Given the description of an element on the screen output the (x, y) to click on. 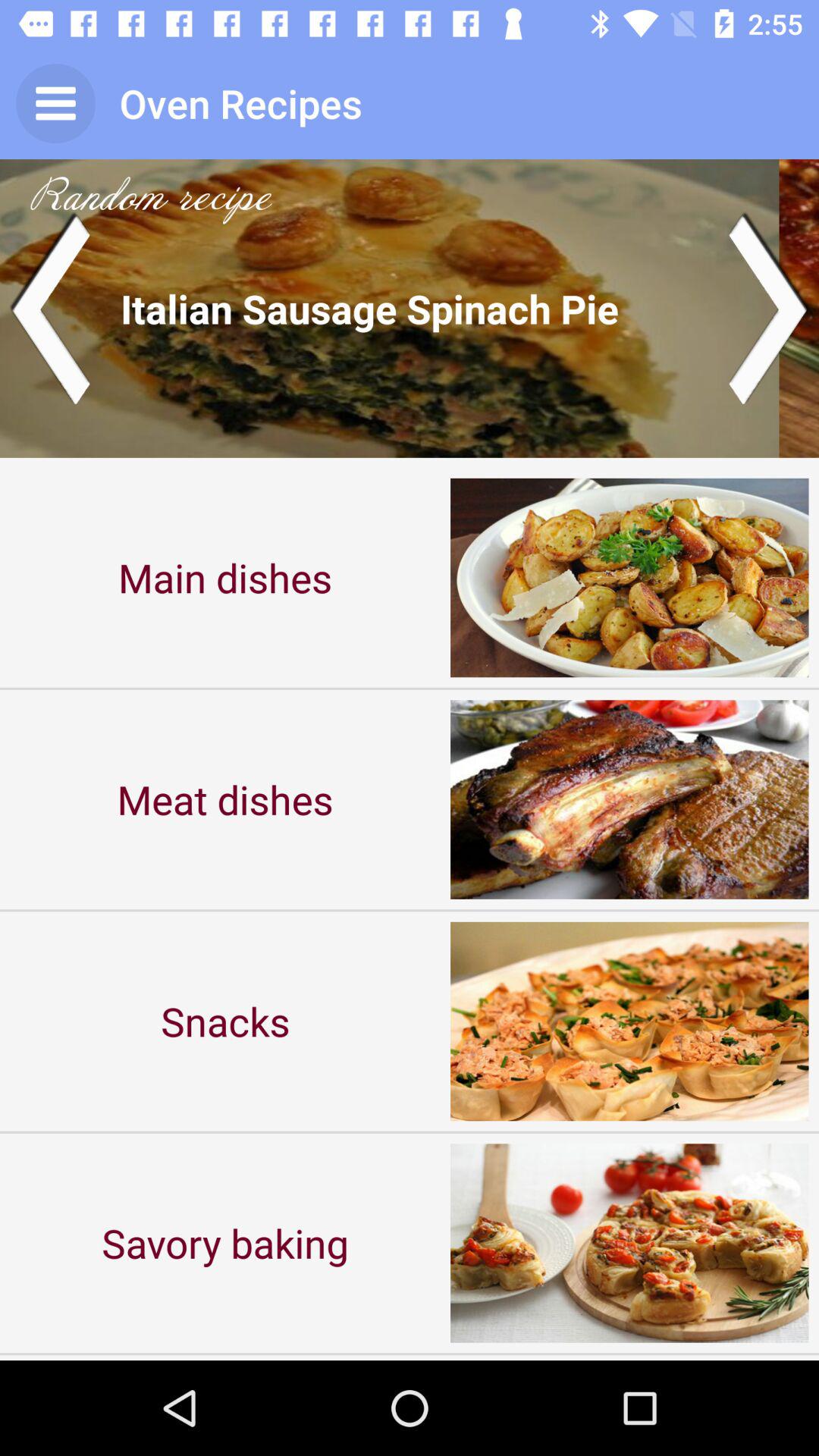
swipe to meat dishes item (225, 798)
